Given the description of an element on the screen output the (x, y) to click on. 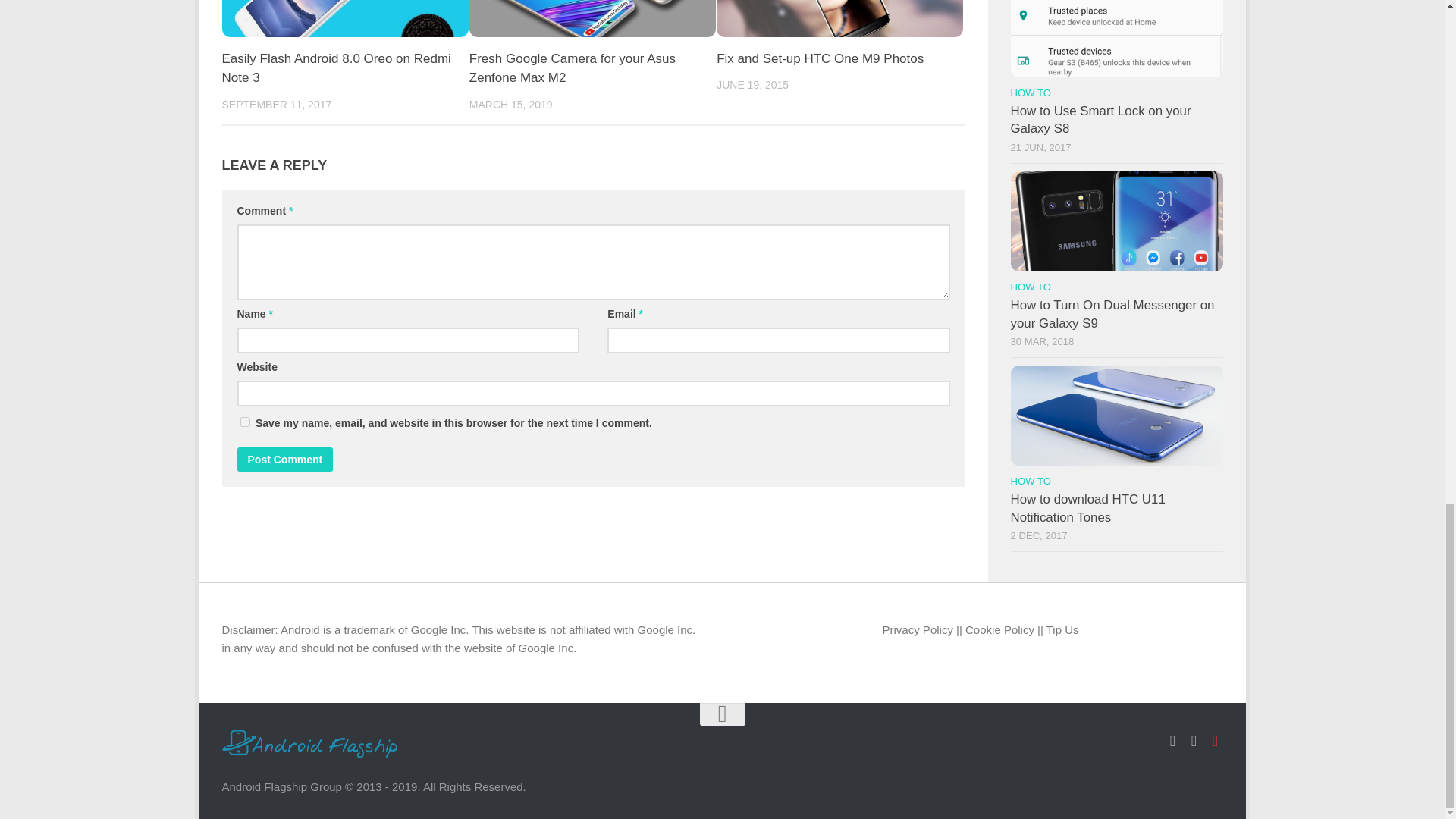
Post Comment (284, 459)
Post Comment (284, 459)
Permalink to Easily Flash Android 8.0 Oreo on Redmi Note 3 (335, 68)
Easily Flash Android 8.0 Oreo on Redmi Note 3 (335, 68)
Fix and Set-up HTC One M9 Photos (819, 58)
Fresh Google Camera for your Asus Zenfone Max M2 (571, 68)
yes (244, 421)
Permalink to Fix and Set-up HTC One M9 Photos (819, 58)
